Given the description of an element on the screen output the (x, y) to click on. 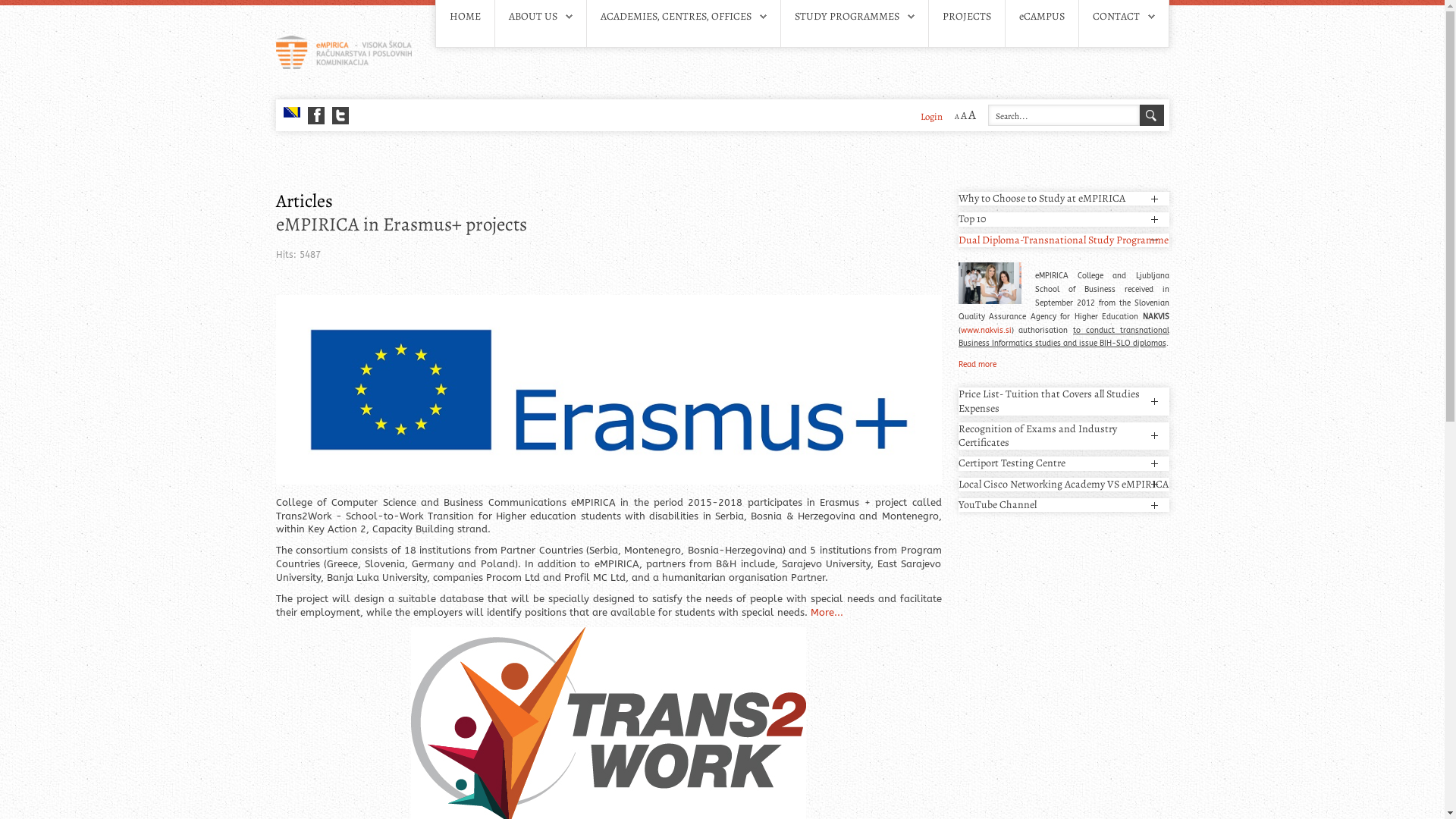
ACADEMIES, CENTRES, OFFICES Element type: text (683, 16)
Read more Element type: text (977, 364)
eMPIRICA in Erasmus+ projects Element type: text (608, 224)
CONTACT Element type: text (1123, 16)
STUDY PROGRAMMES Element type: text (846, 16)
PROJECTS Element type: text (965, 16)
A Element type: text (955, 116)
HOME Element type: text (464, 16)
More... Element type: text (825, 612)
A Element type: text (971, 114)
ABOUT US Element type: text (539, 16)
eCAMPUS Element type: text (1041, 16)
ABOUT US Element type: text (532, 16)
CONTACT Element type: text (1115, 16)
eCAMPUS Element type: text (1041, 16)
ACADEMIES, CENTRES, OFFICES Element type: text (675, 16)
Find Element type: text (1151, 114)
PROJECTS Element type: text (965, 16)
STUDY PROGRAMMES Element type: text (854, 16)
A Element type: text (963, 115)
HOME Element type: text (464, 16)
www.nakvis.si Element type: text (985, 330)
